Given the description of an element on the screen output the (x, y) to click on. 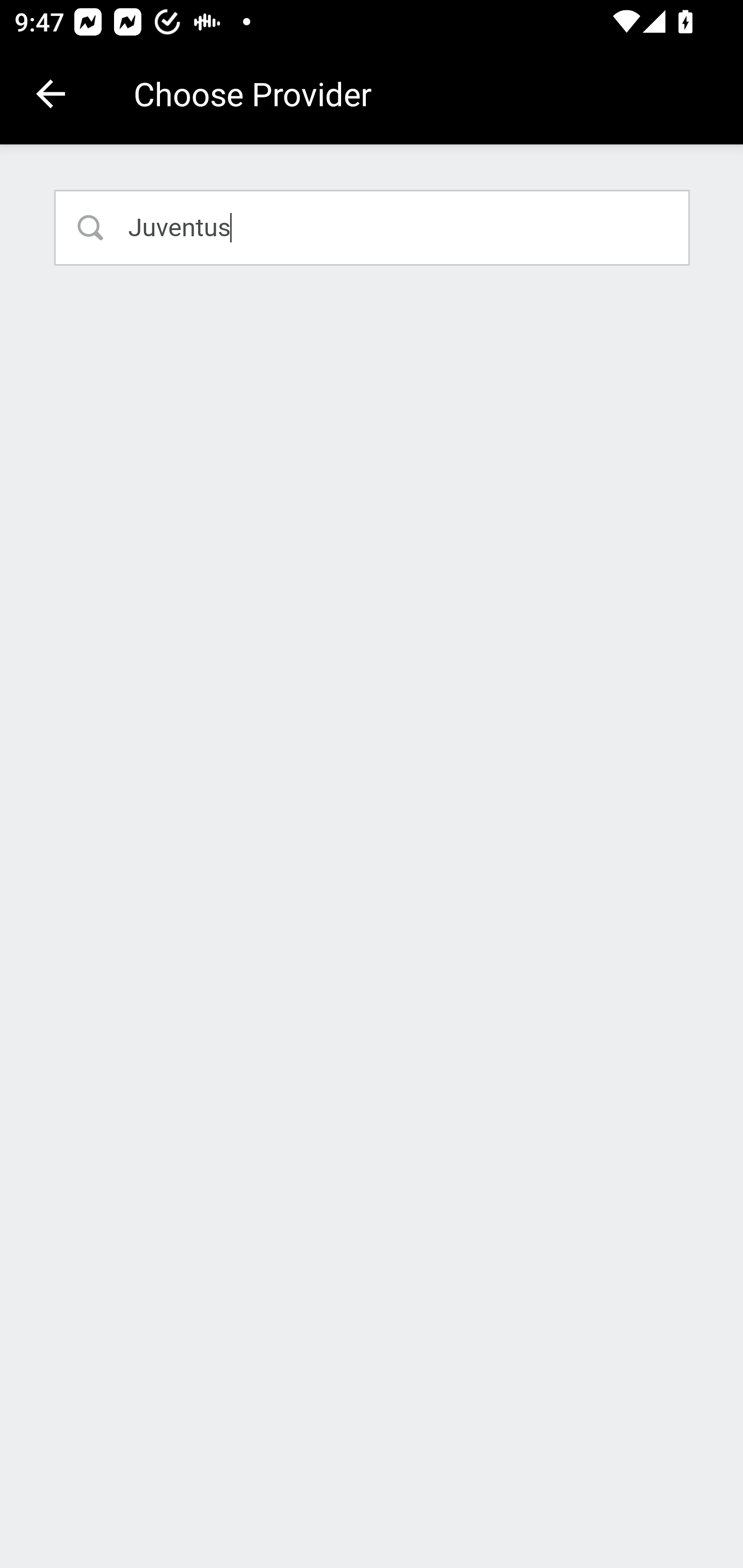
Navigate up (50, 93)
Juventus (372, 227)
